Given the description of an element on the screen output the (x, y) to click on. 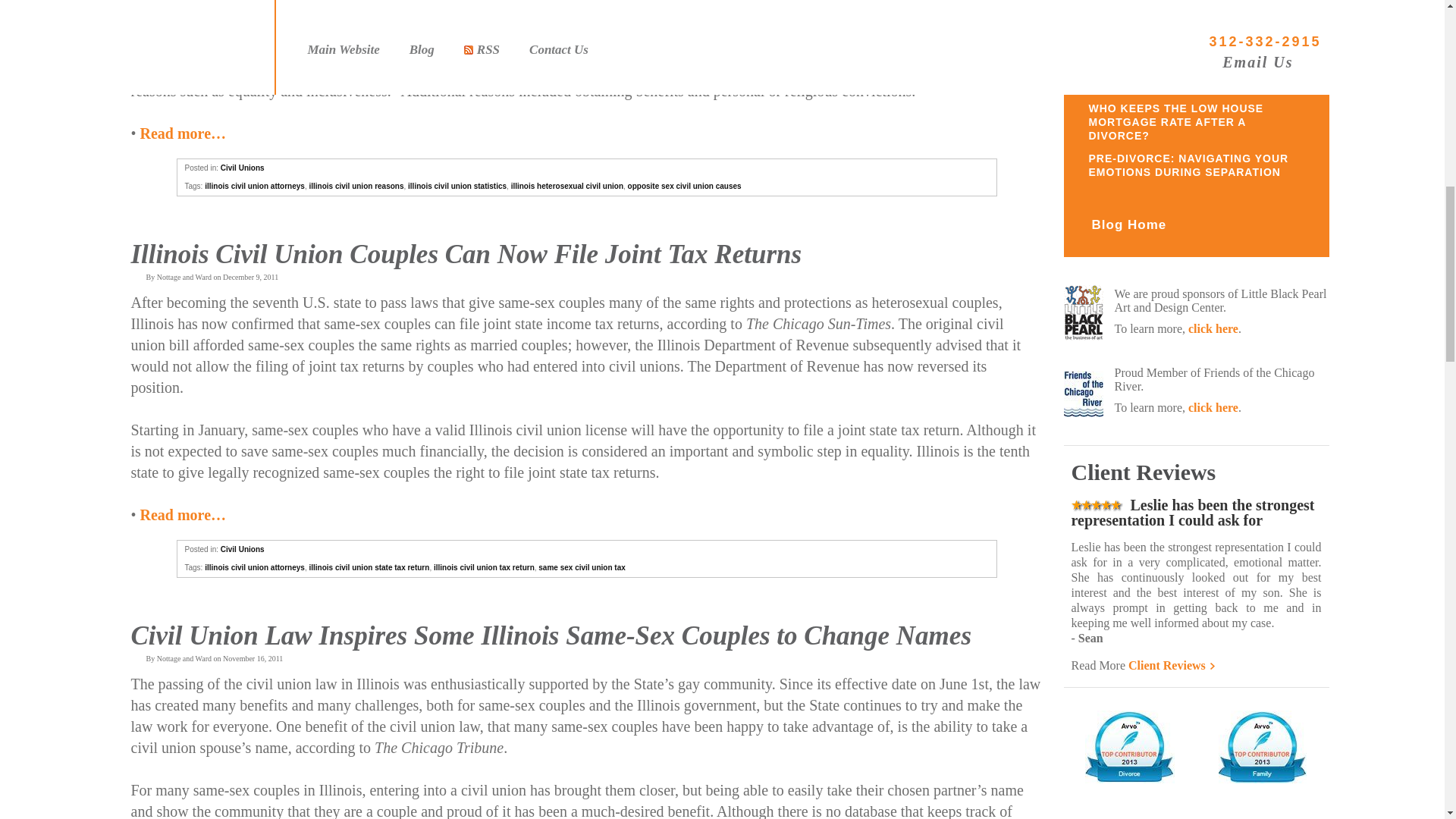
Civil Unions (242, 549)
illinois heterosexual civil union (567, 185)
illinois civil union statistics (456, 185)
illinois civil union reasons (355, 185)
Civil Unions (242, 167)
opposite sex civil union causes (684, 185)
same sex civil union tax (582, 567)
illinois civil union state tax return (368, 567)
illinois civil union attorneys (254, 185)
